Given the description of an element on the screen output the (x, y) to click on. 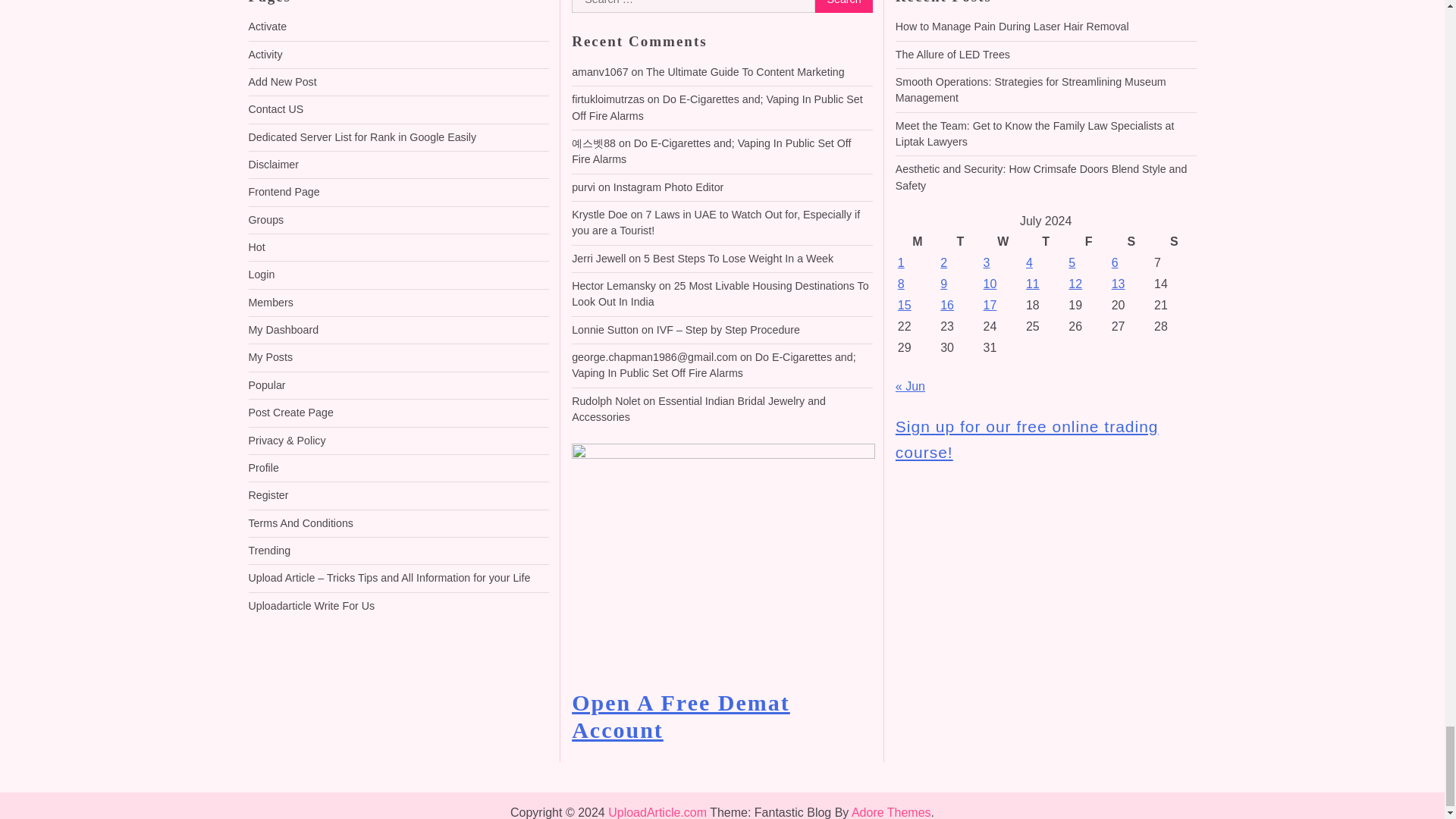
Tuesday (959, 241)
Monday (916, 241)
Sunday (1173, 241)
Saturday (1130, 241)
Thursday (1045, 241)
Search (843, 6)
Wednesday (1002, 241)
Search (843, 6)
Friday (1087, 241)
